Given the description of an element on the screen output the (x, y) to click on. 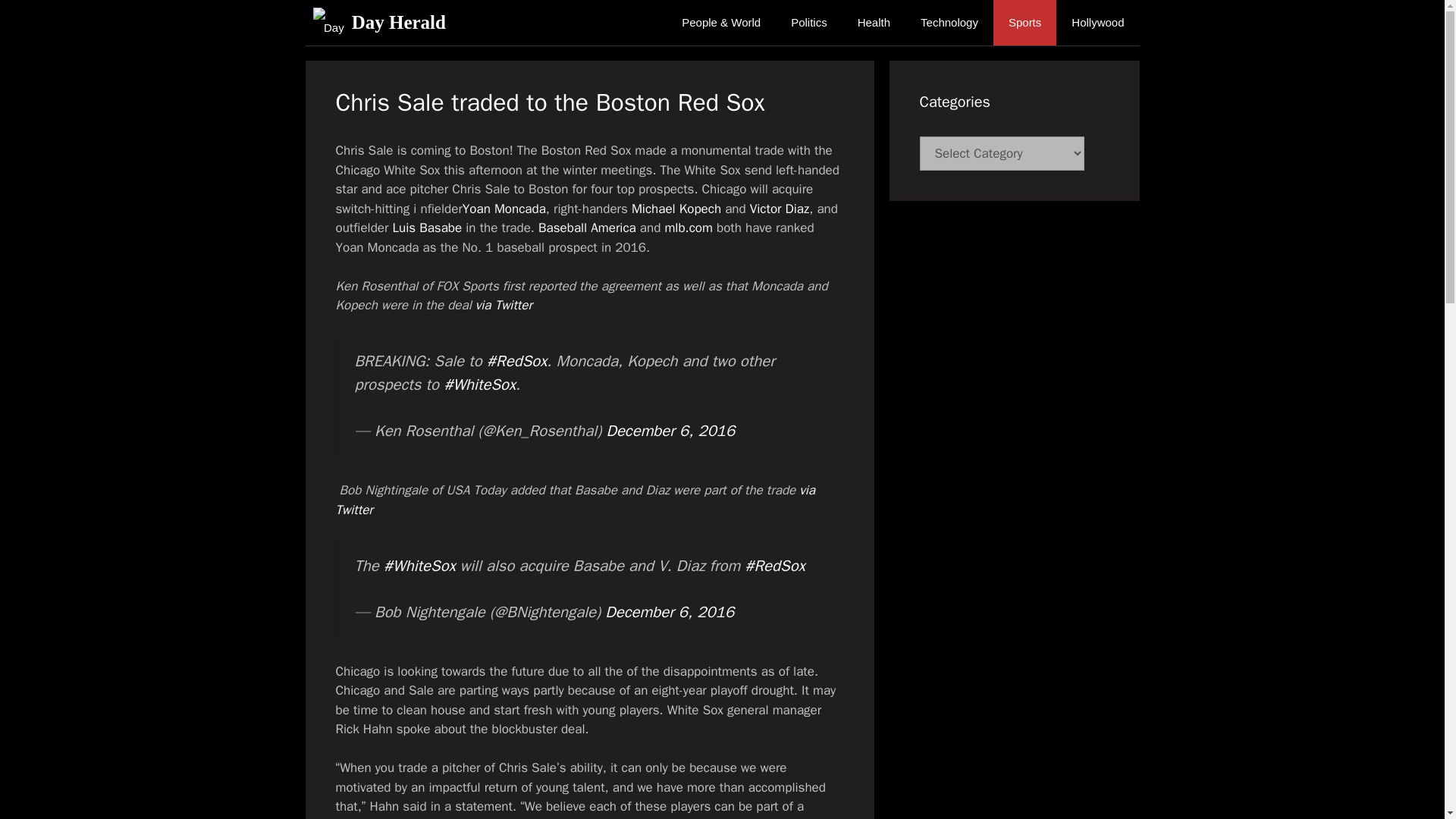
Politics (809, 22)
December 6, 2016 (669, 611)
Day Herald (328, 22)
Health (874, 22)
Yoan Moncada (504, 207)
Luis Basabe (428, 227)
Victor Diaz (779, 207)
Hollywood (1097, 22)
via Twitter (574, 499)
via Twitter (504, 304)
December 6, 2016 (670, 430)
Technology (948, 22)
Day Herald (331, 22)
Michael Kopech (675, 207)
Day Herald (398, 22)
